Given the description of an element on the screen output the (x, y) to click on. 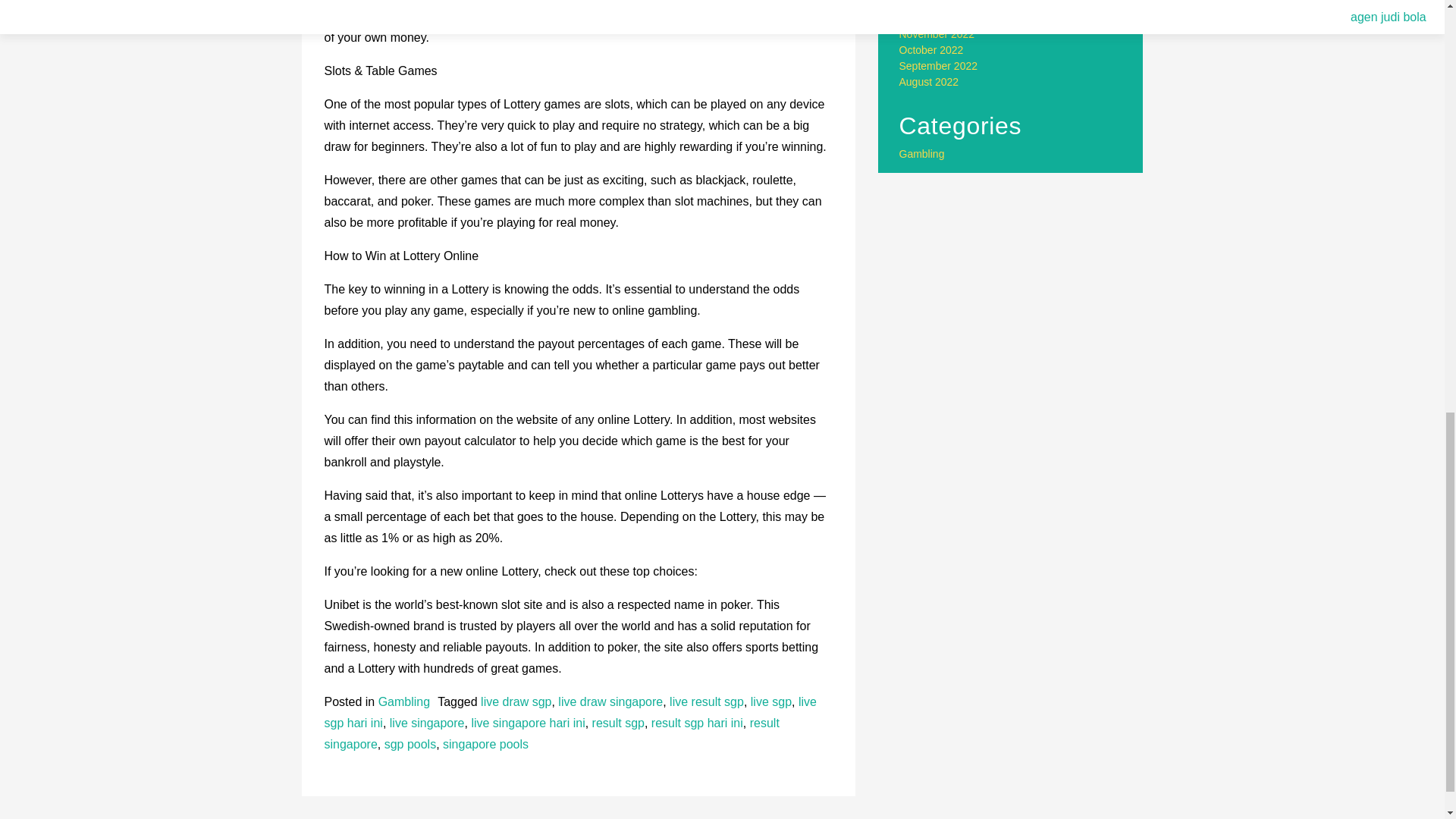
singapore pools (485, 744)
live sgp (771, 701)
result sgp (618, 722)
live singapore (427, 722)
Gambling (403, 701)
result sgp hari ini (696, 722)
live singapore hari ini (527, 722)
sgp pools (410, 744)
live draw sgp (515, 701)
live sgp hari ini (570, 712)
live draw singapore (609, 701)
result singapore (551, 733)
live result sgp (706, 701)
